Given the description of an element on the screen output the (x, y) to click on. 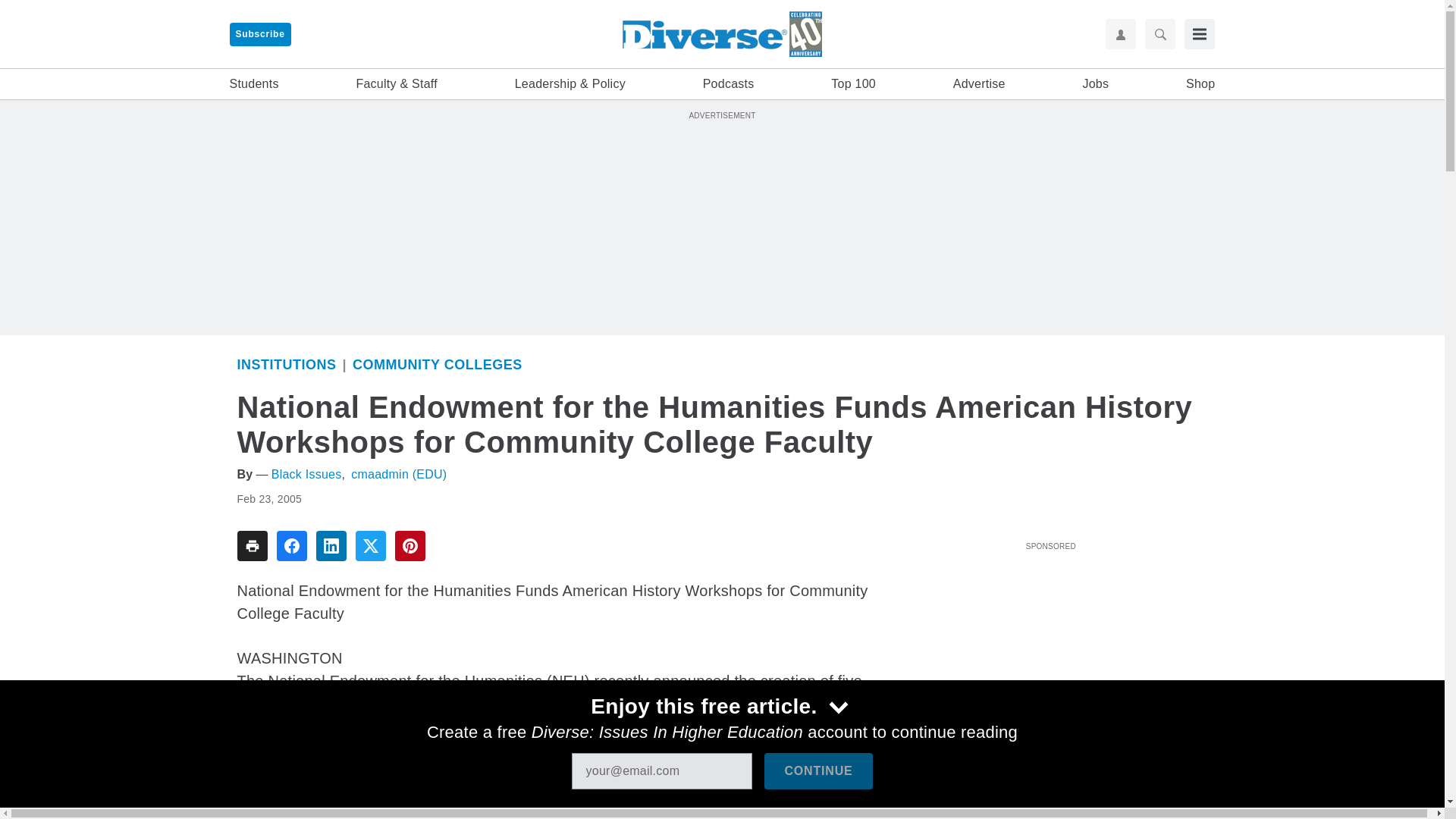
Advertise (979, 84)
Jobs (1094, 84)
Subscribe (258, 33)
Share To print (250, 545)
Share To facebook (290, 545)
Share To twitter (370, 545)
Community Colleges (437, 364)
Institutions (285, 364)
Share To pinterest (409, 545)
Subscribe (258, 33)
